Given the description of an element on the screen output the (x, y) to click on. 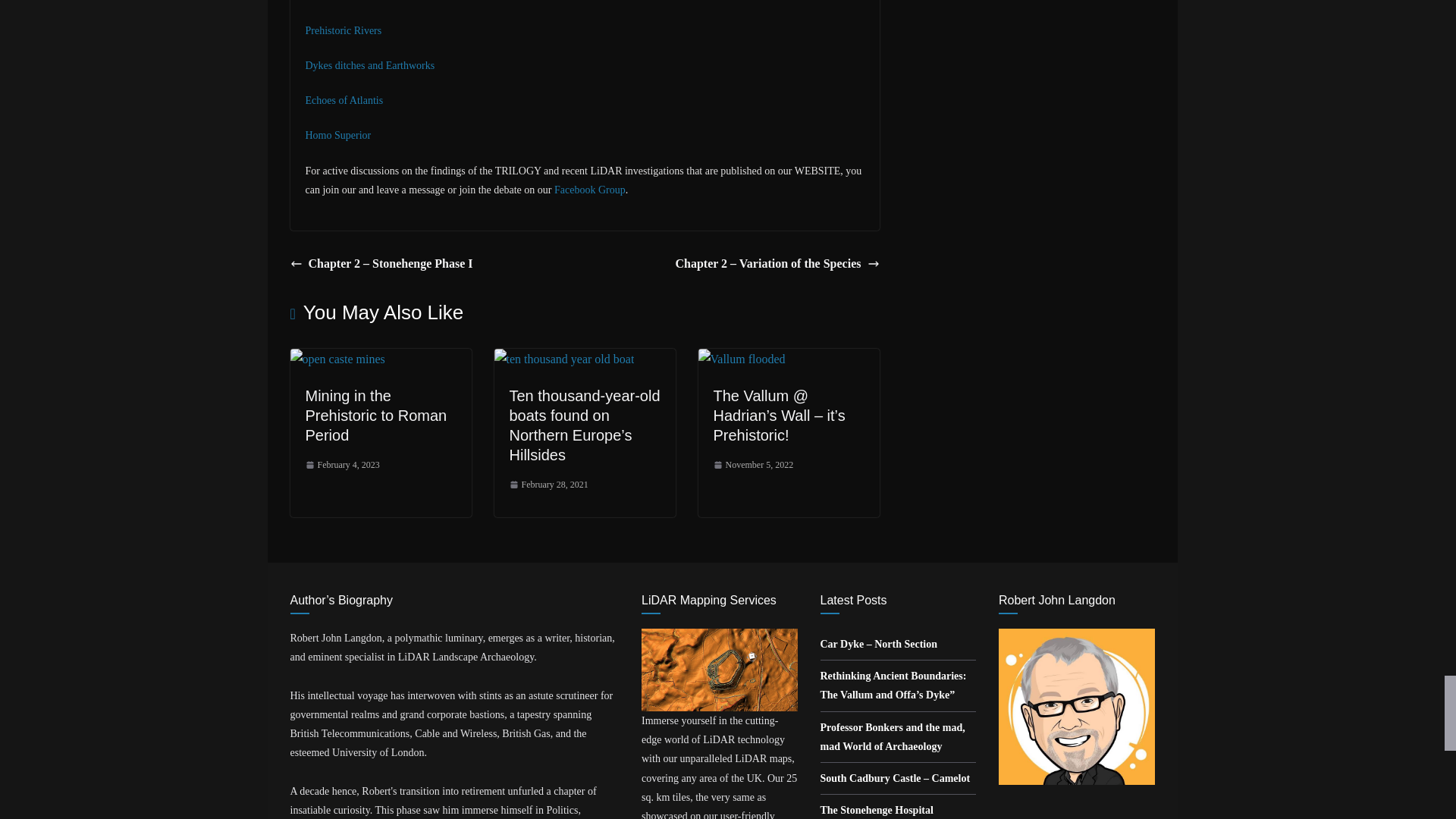
Mining in the Prehistoric to Roman Period 7 (336, 359)
Mining in the Prehistoric to Roman Period (336, 358)
Mining in the Prehistoric to Roman Period (375, 415)
